Given the description of an element on the screen output the (x, y) to click on. 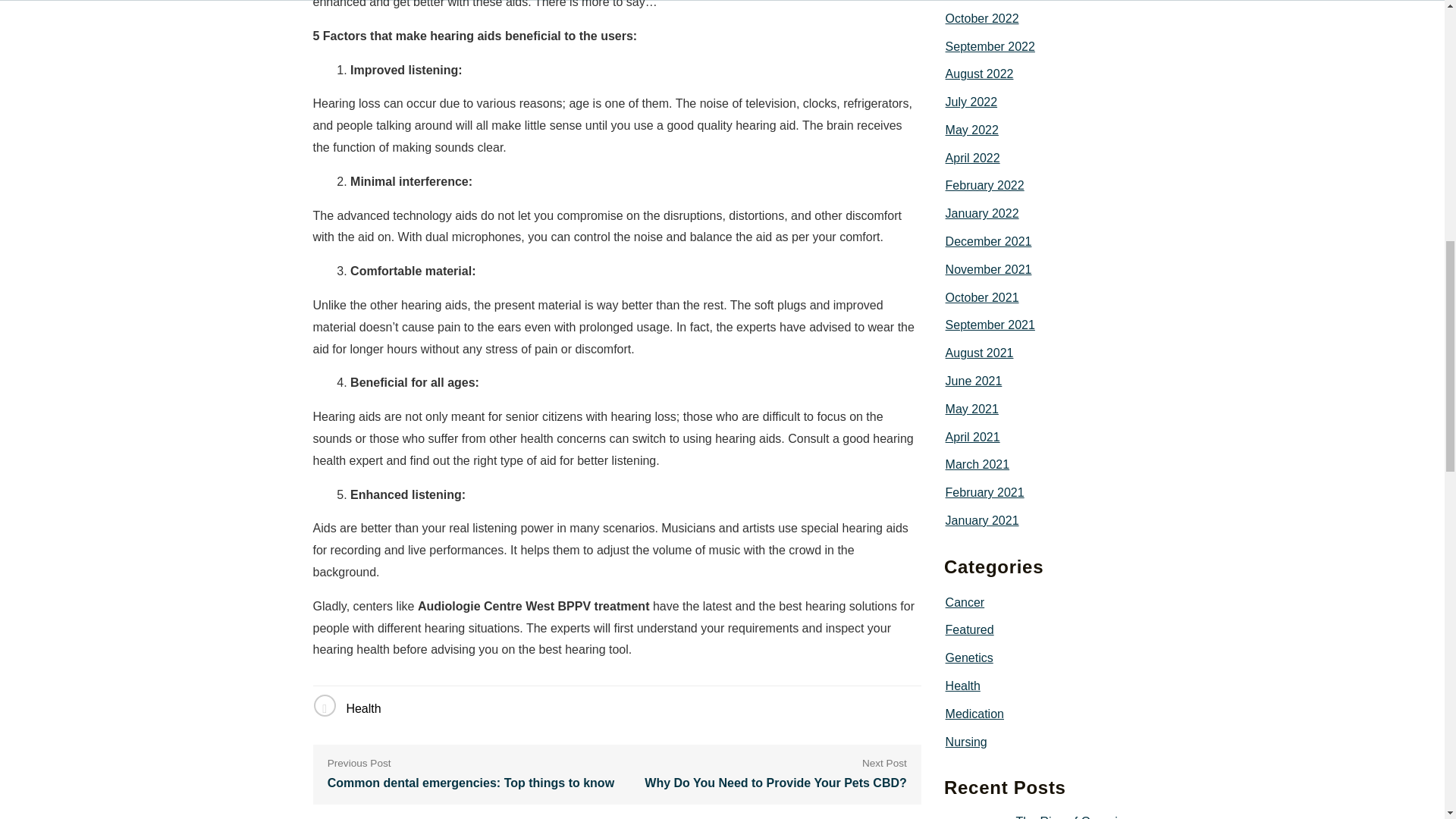
Common dental emergencies: Top things to know (470, 783)
Health (363, 707)
Why Do You Need to Provide Your Pets CBD? (776, 783)
